Given the description of an element on the screen output the (x, y) to click on. 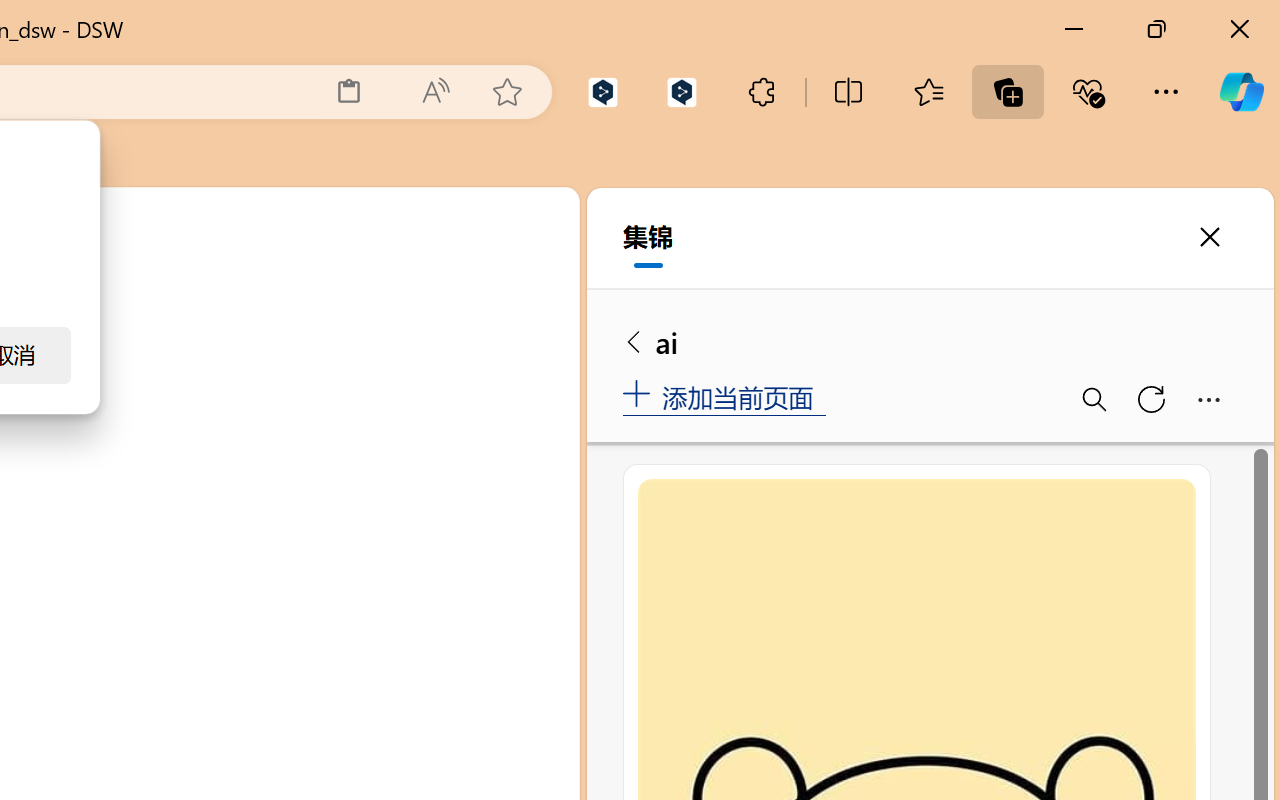
Toggle Secondary Side Bar (Ctrl+Alt+B) (506, 294)
Copilot (Ctrl+Shift+.) (1241, 91)
icon (436, 220)
